Given the description of an element on the screen output the (x, y) to click on. 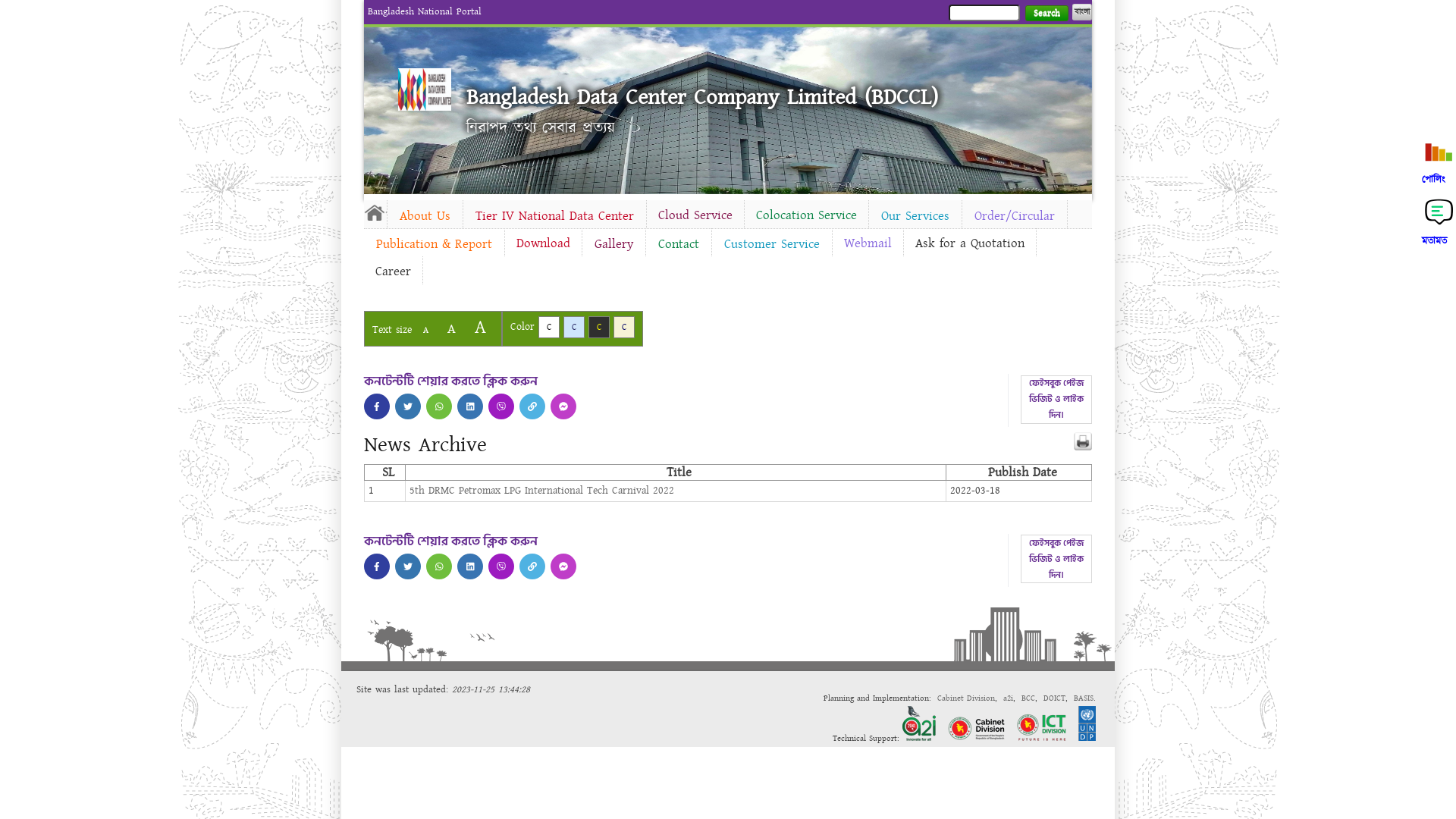
Publication & Report Element type: text (434, 244)
Order/Circular Element type: text (1014, 216)
Cabinet Division Element type: text (965, 697)
Customer Service Element type: text (771, 244)
C Element type: text (623, 327)
Career Element type: text (393, 271)
DOICT Element type: text (1054, 697)
Webmail Element type: text (867, 243)
C Element type: text (548, 327)
C Element type: text (573, 327)
A Element type: text (480, 327)
a2i Element type: text (1008, 697)
Cloud Service Element type: text (694, 215)
Gallery Element type: text (613, 244)
Home Element type: hover (375, 211)
C Element type: text (598, 327)
A Element type: text (425, 330)
Tier IV National Data Center Element type: text (554, 216)
BCC Element type: text (1028, 697)
A Element type: text (451, 328)
BASIS Element type: text (1083, 697)
Bangladesh National Portal Element type: text (424, 11)
5th DRMC Petromax LPG International Tech Carnival 2022 Element type: text (541, 490)
Colocation Service Element type: text (806, 215)
Our Services Element type: text (915, 216)
Ask for a Quotation Element type: text (969, 243)
Download Element type: text (543, 243)
Contact Element type: text (678, 244)
Search Element type: text (1046, 13)
About Us Element type: text (424, 216)
Bangladesh Data Center Company Limited (BDCCL) Element type: text (702, 96)
Home Element type: hover (424, 89)
